Given the description of an element on the screen output the (x, y) to click on. 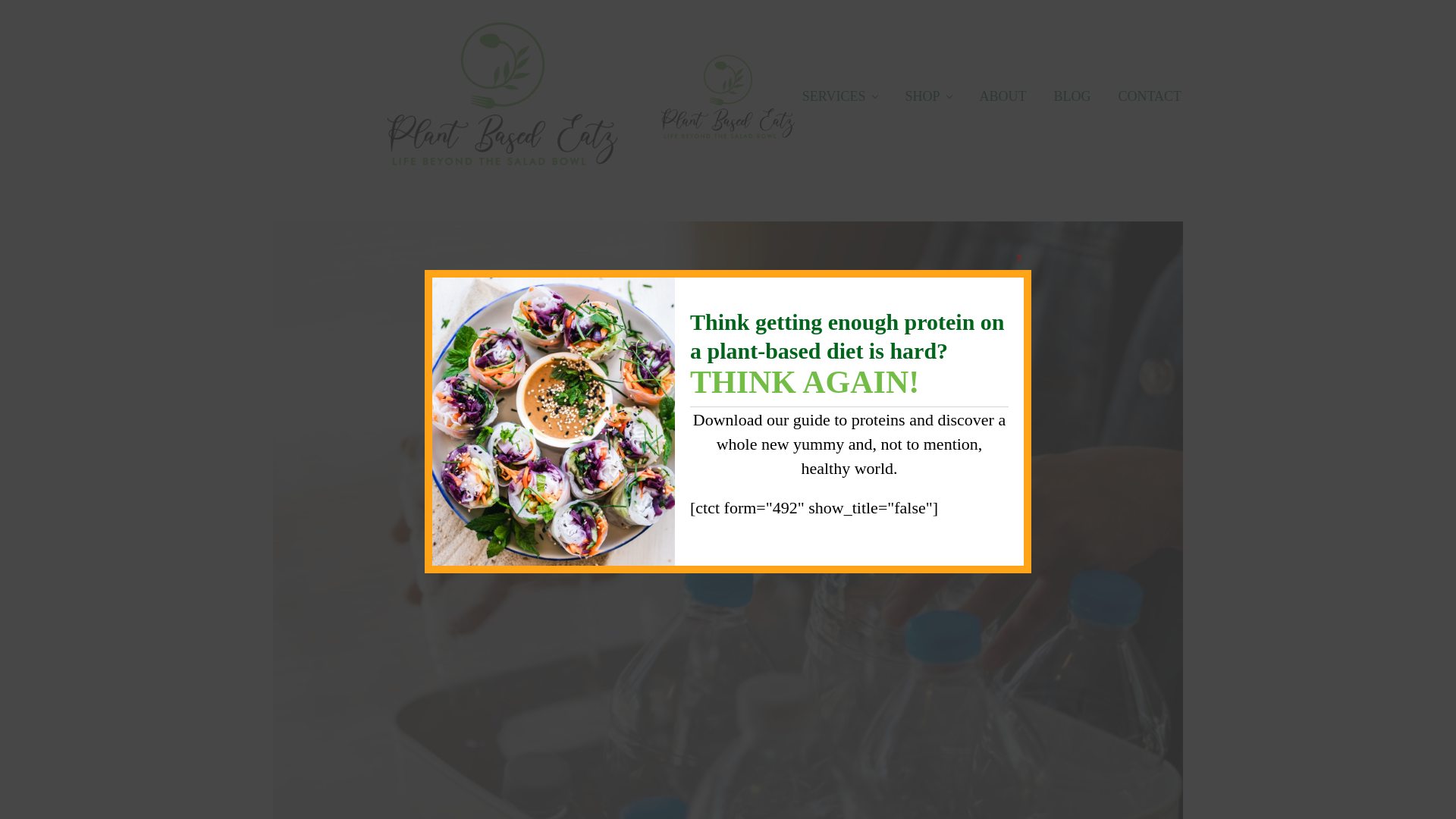
SHOP (927, 96)
ABOUT (1002, 96)
CONTACT (1149, 96)
SERVICES (839, 96)
BLOG (1071, 96)
